Given the description of an element on the screen output the (x, y) to click on. 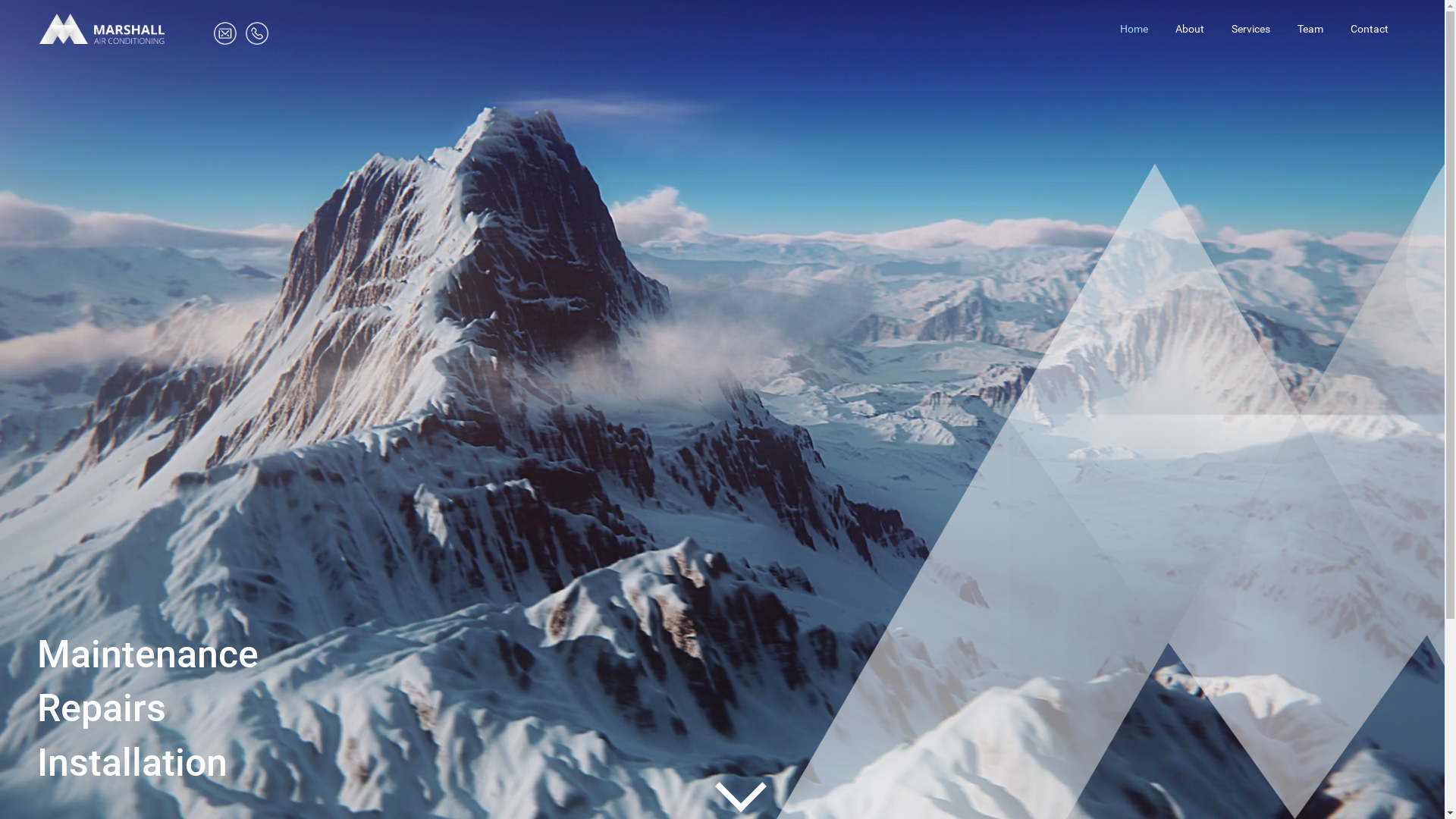
Contact Element type: text (1369, 28)
Team Element type: text (1310, 28)
About Element type: text (1189, 28)
Services Element type: text (1250, 28)
Home Element type: text (1134, 28)
